Given the description of an element on the screen output the (x, y) to click on. 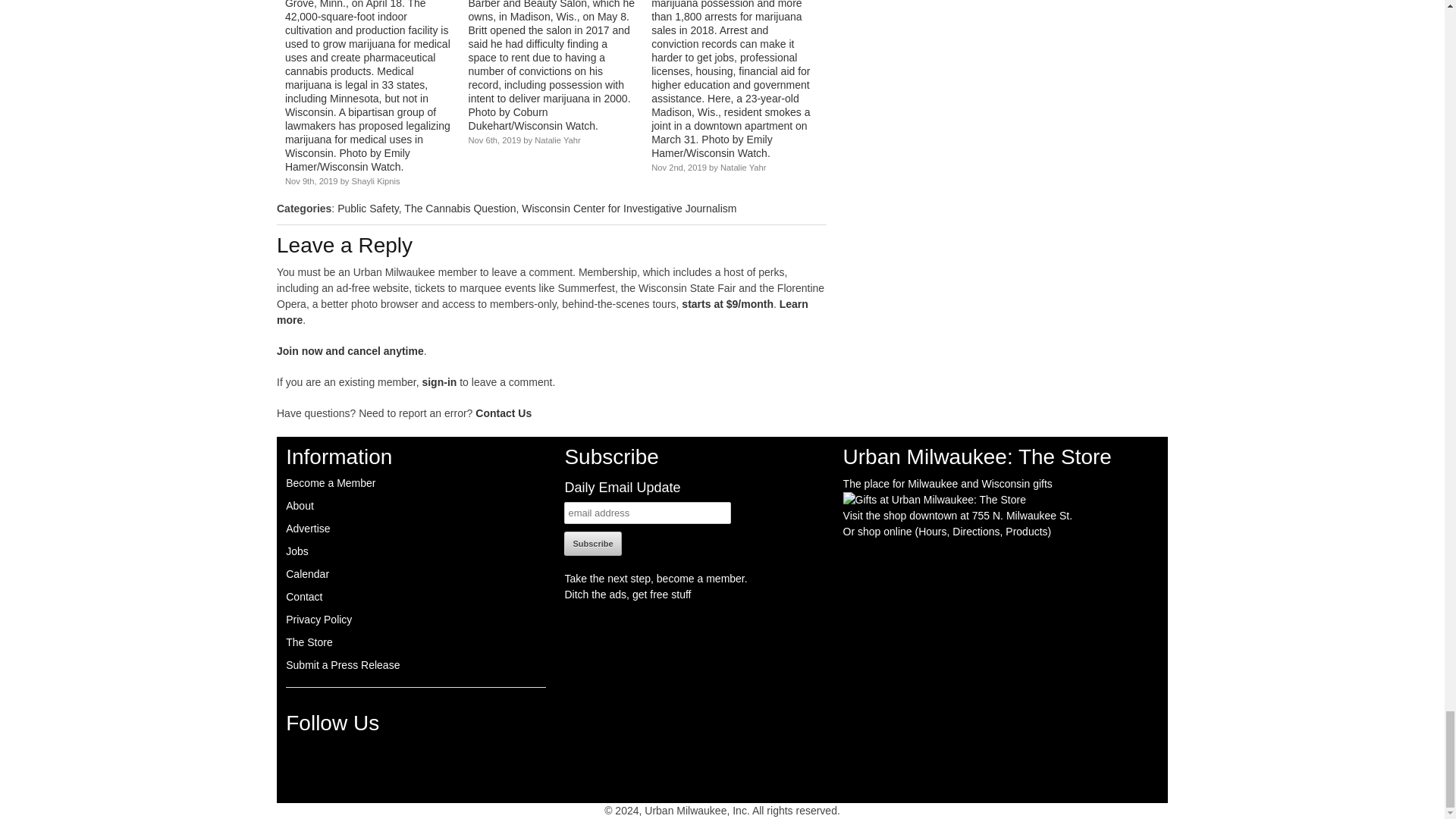
The Cannabis Question (459, 208)
Wisconsin Center for Investigative Journalism (628, 208)
Subscribe (592, 543)
Public Safety (367, 208)
